Given the description of an element on the screen output the (x, y) to click on. 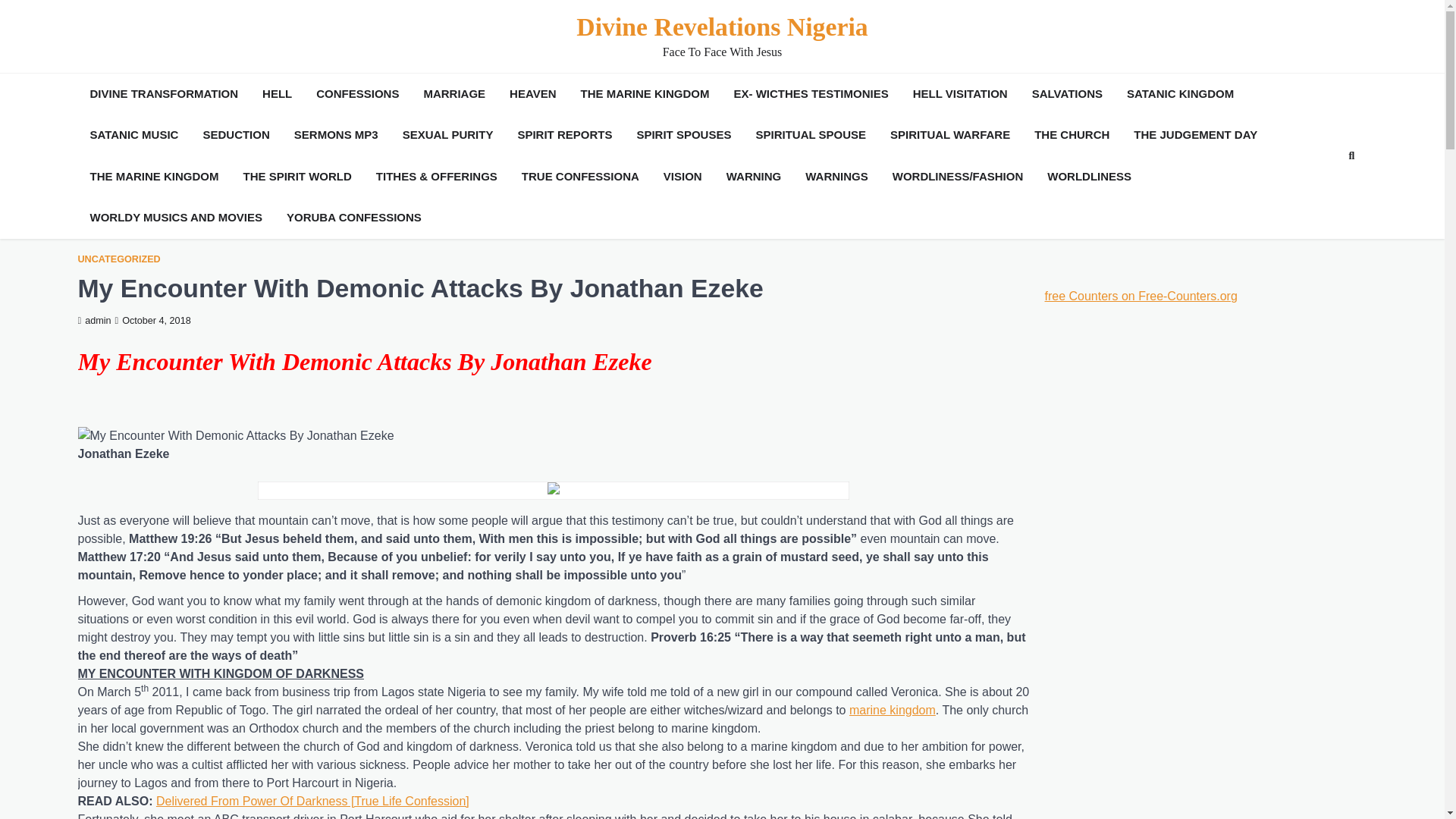
VISION (682, 176)
Jonathan Ezeke (235, 435)
THE JUDGEMENT DAY (1194, 135)
SATANIC MUSIC (133, 135)
SEDUCTION (235, 135)
YORUBA CONFESSIONS (354, 217)
Search (1323, 191)
SPIRITUAL WARFARE (949, 135)
WORLDY MUSICS AND MOVIES (174, 217)
THE SPIRIT WORLD (295, 176)
